Given the description of an element on the screen output the (x, y) to click on. 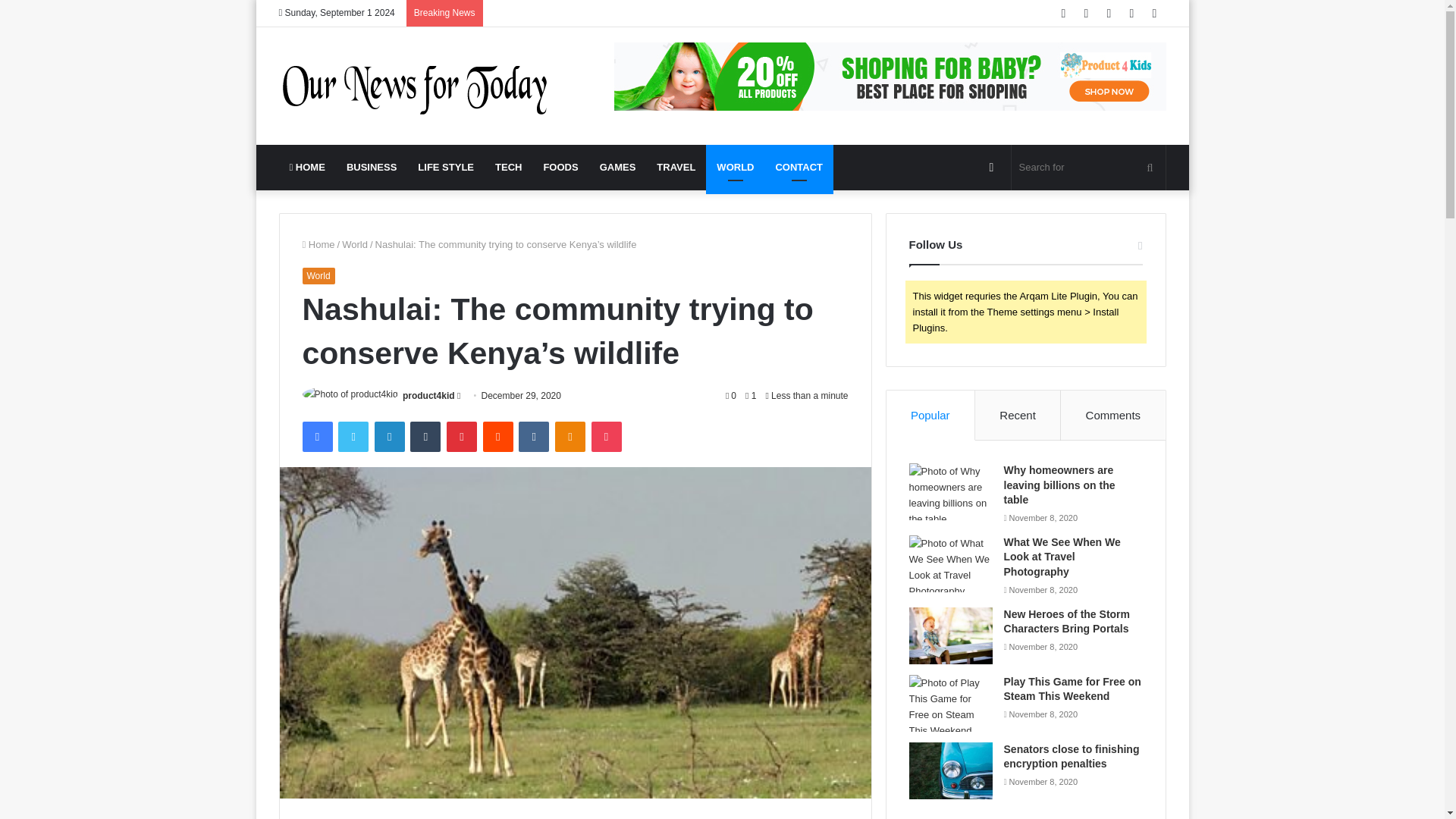
Pinterest (461, 436)
Facebook (316, 436)
Twitter (352, 436)
product4kid (428, 395)
Search for (1088, 167)
product4kid (428, 395)
GAMES (617, 167)
Twitter (352, 436)
TECH (508, 167)
Tumblr (425, 436)
